Given the description of an element on the screen output the (x, y) to click on. 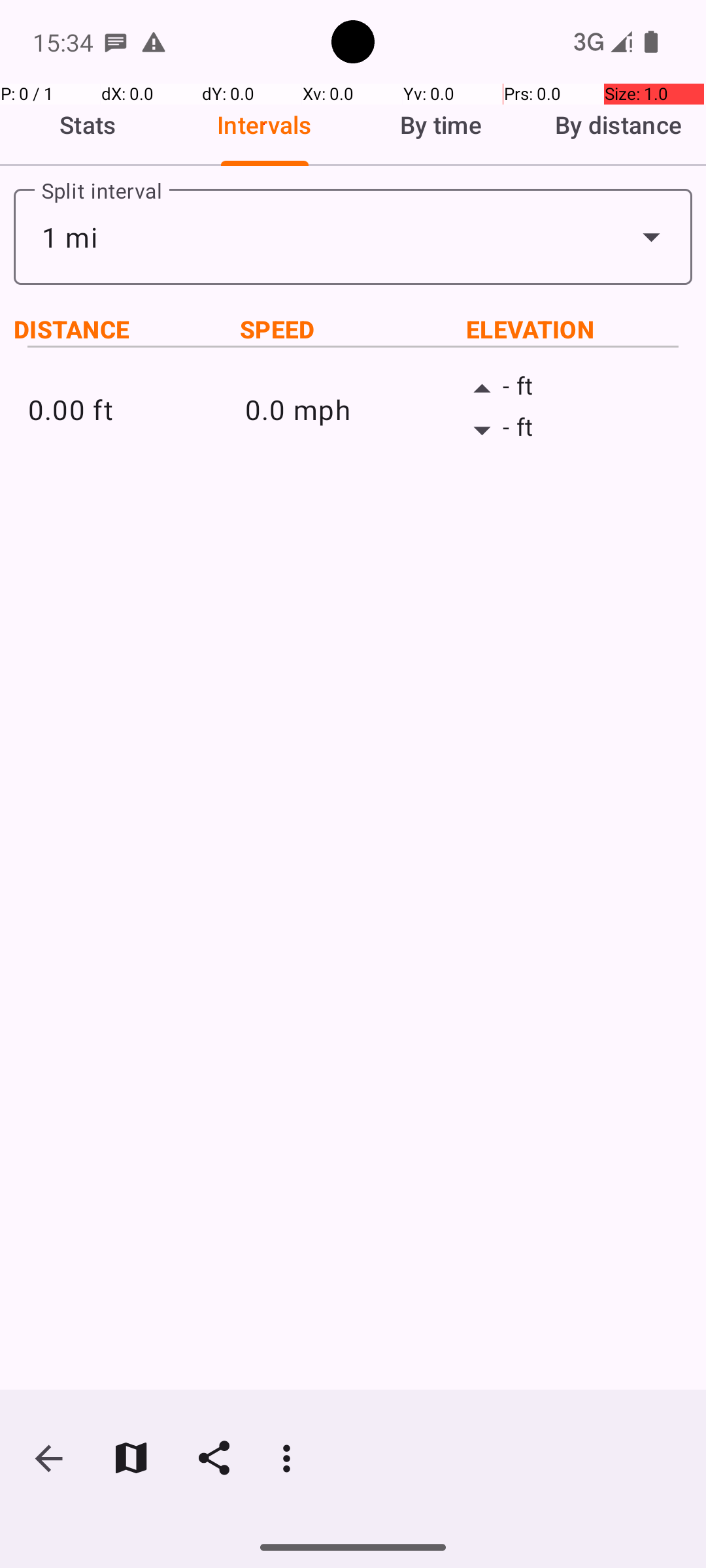
1 mi Element type: android.widget.Spinner (352, 236)
0.00 ft Element type: android.widget.TextView (135, 408)
0.0 mph Element type: android.widget.TextView (352, 408)
- ft Element type: android.widget.TextView (569, 388)
